Given the description of an element on the screen output the (x, y) to click on. 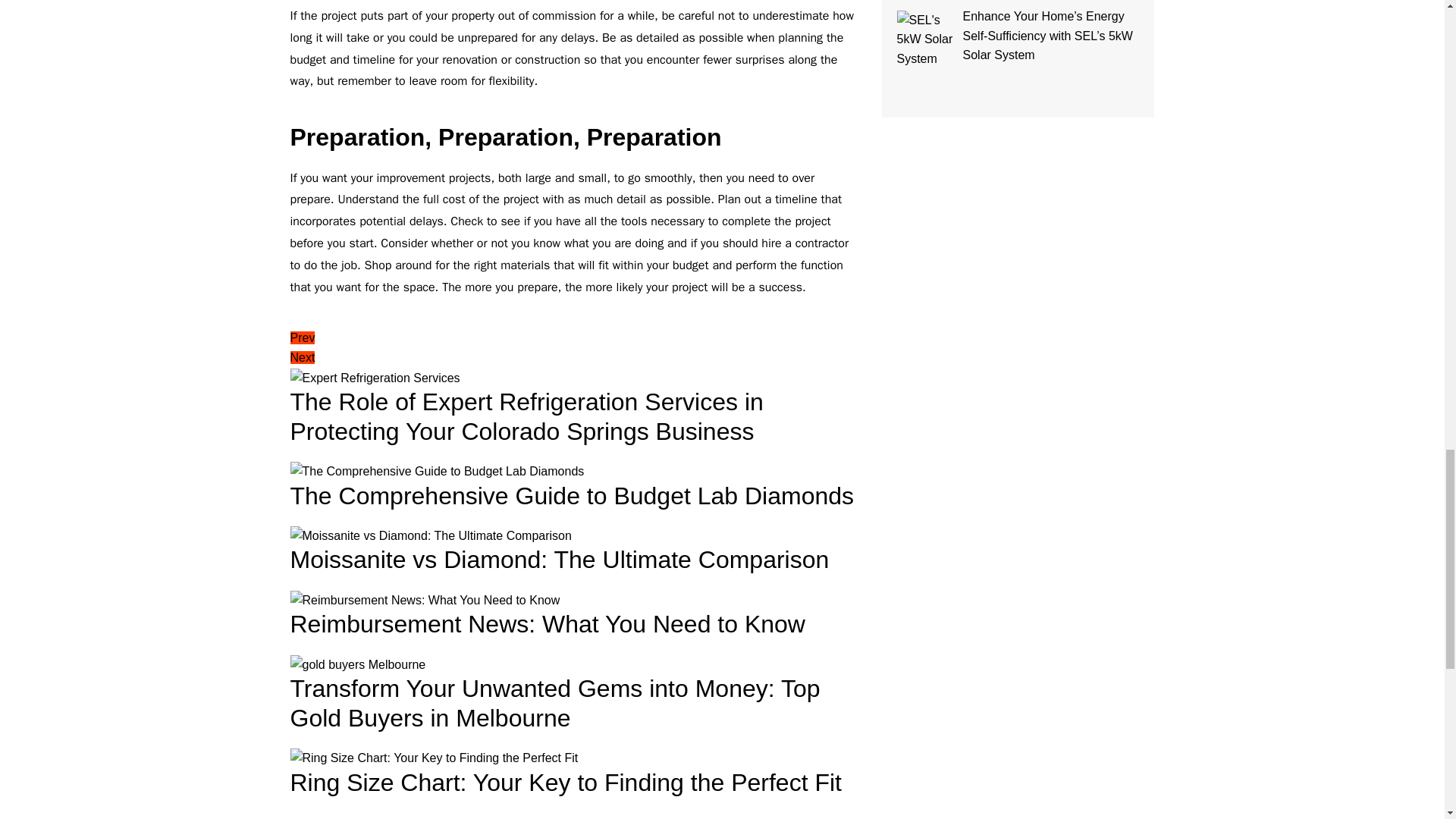
Reimbursement News: What You Need to Know (424, 600)
The Comprehensive Guide to Budget Lab Diamonds (436, 471)
Prev (301, 337)
Moissanite vs Diamond: The Ultimate Comparison (429, 536)
Expert Refrigeration Services (374, 378)
gold buyers Melbourne (357, 664)
Ring Size Chart: Your Key to Finding the Perfect Fit (433, 758)
